Given the description of an element on the screen output the (x, y) to click on. 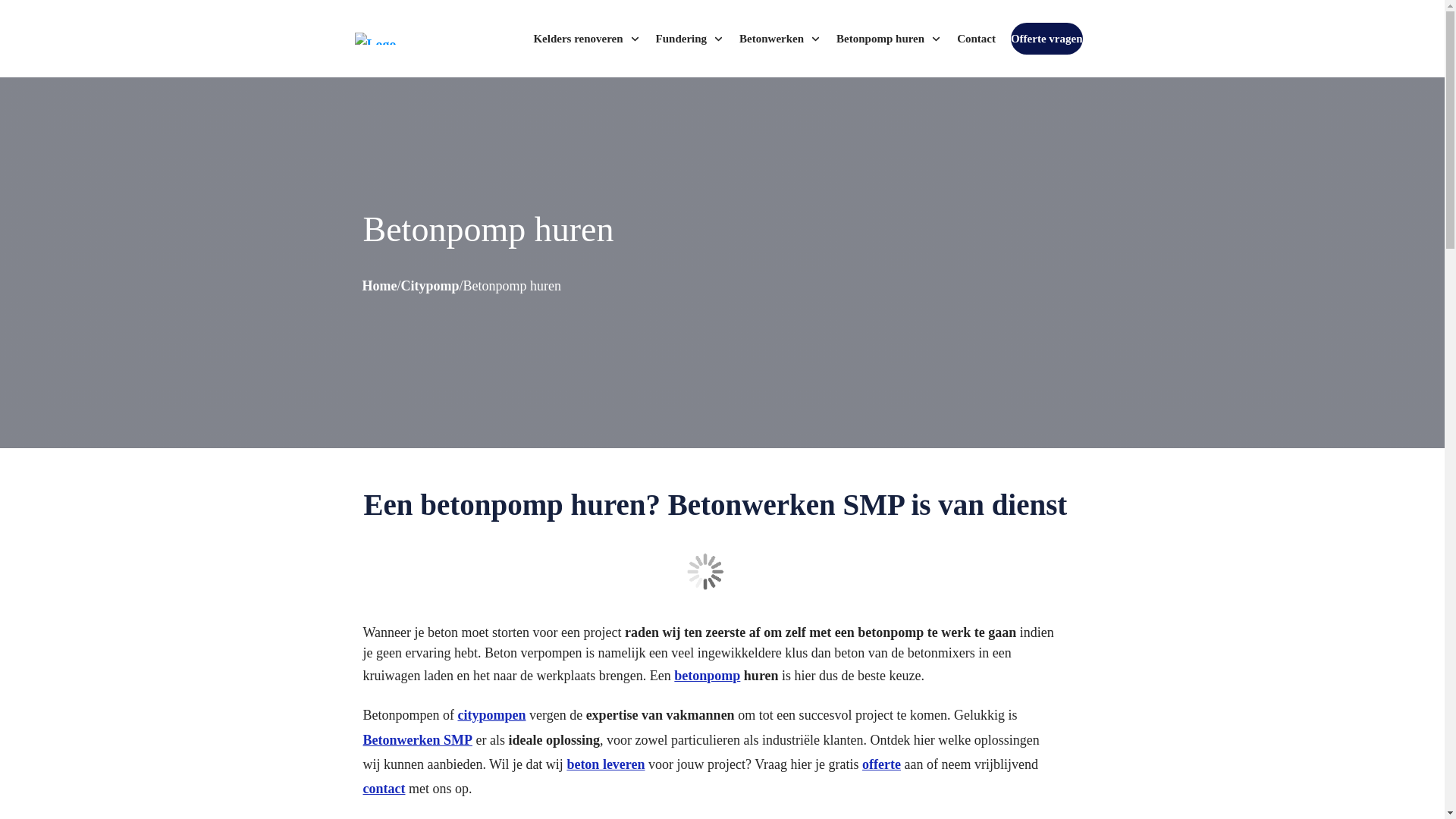
Home Element type: text (379, 286)
Betonwerken SMP Element type: text (416, 739)
Offerte vragen Element type: text (1046, 38)
Betonwerken Element type: text (780, 38)
beton leveren Element type: text (605, 763)
Contact Element type: text (976, 38)
offerte Element type: text (881, 763)
Fundering Element type: text (689, 38)
contact Element type: text (383, 788)
Kelders renoveren Element type: text (586, 38)
Betonpomp huren Element type: text (888, 38)
Citypomp Element type: text (429, 286)
citypompen Element type: text (491, 714)
betonpomp Element type: text (707, 675)
